Given the description of an element on the screen output the (x, y) to click on. 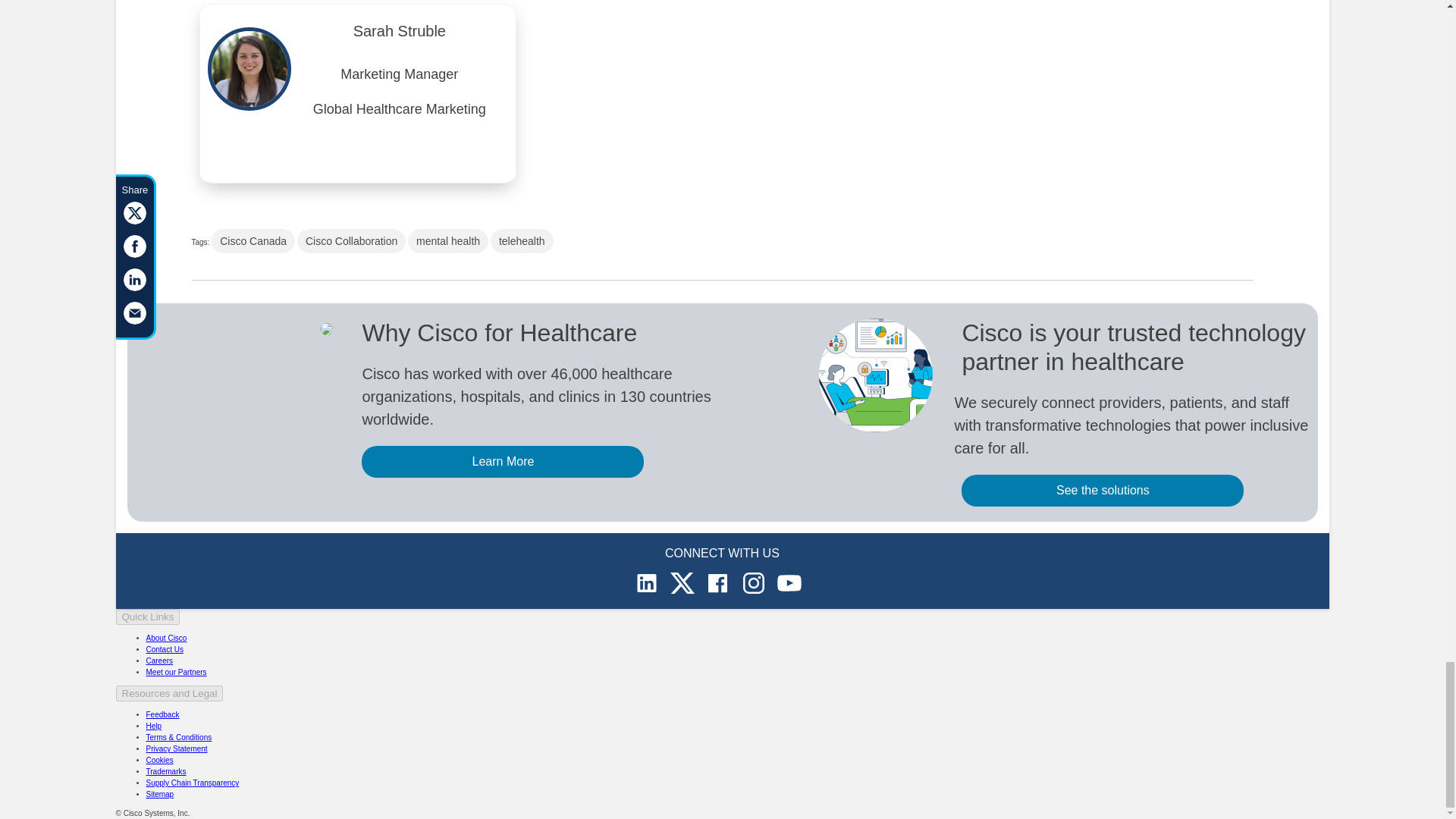
Cisco Collaboration (351, 241)
Cisco Canada (253, 241)
Sarah Struble (399, 34)
mental health (447, 241)
Learn More (502, 461)
telehealth (521, 241)
